Given the description of an element on the screen output the (x, y) to click on. 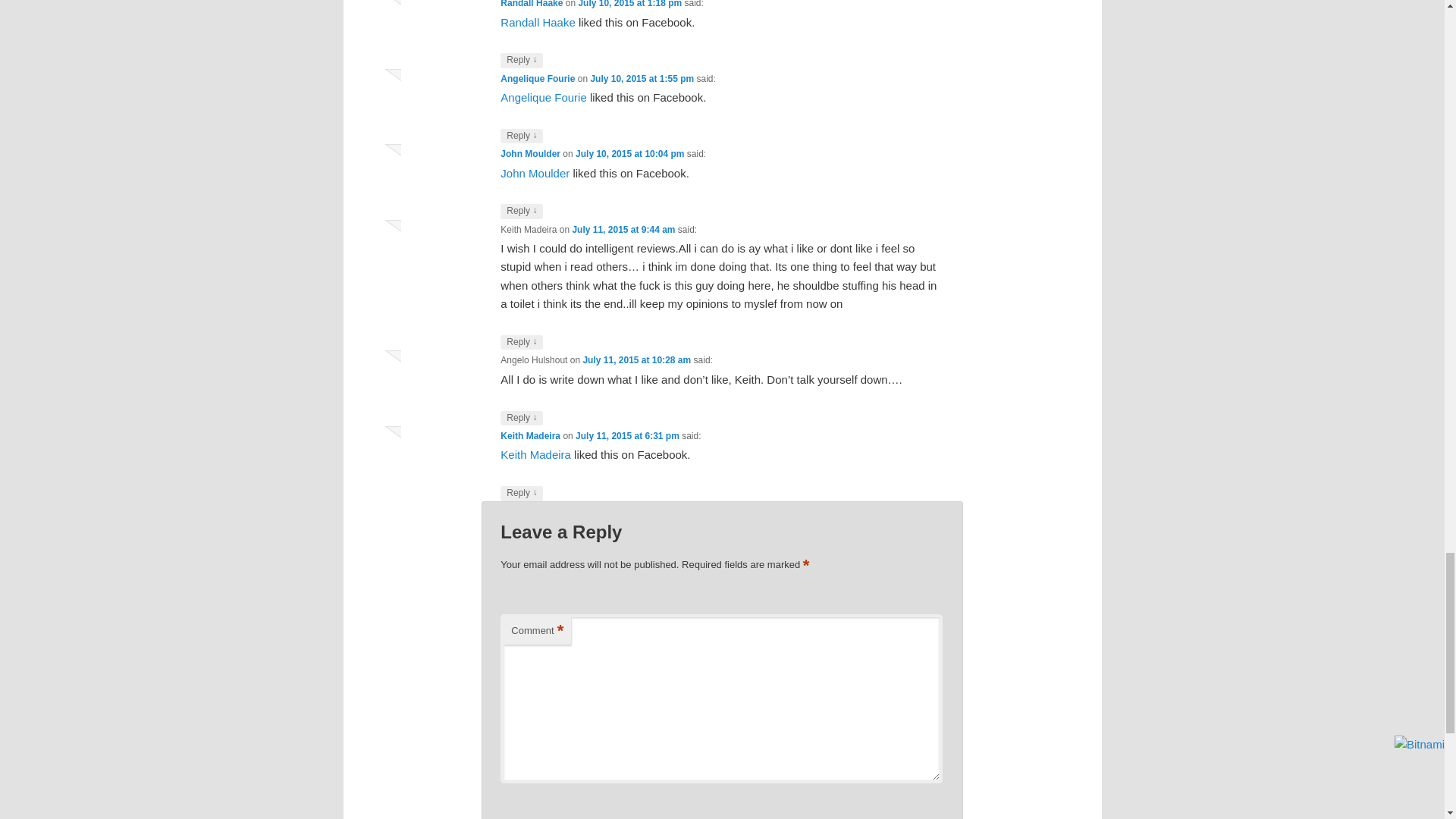
John Moulder (534, 173)
July 10, 2015 at 1:55 pm (641, 78)
Keith Madeira (530, 435)
July 11, 2015 at 6:31 pm (627, 435)
July 11, 2015 at 10:28 am (636, 359)
Randall Haake (531, 4)
July 11, 2015 at 9:44 am (623, 229)
Randall Haake (537, 21)
John Moulder (530, 153)
July 10, 2015 at 1:18 pm (629, 4)
